Given the description of an element on the screen output the (x, y) to click on. 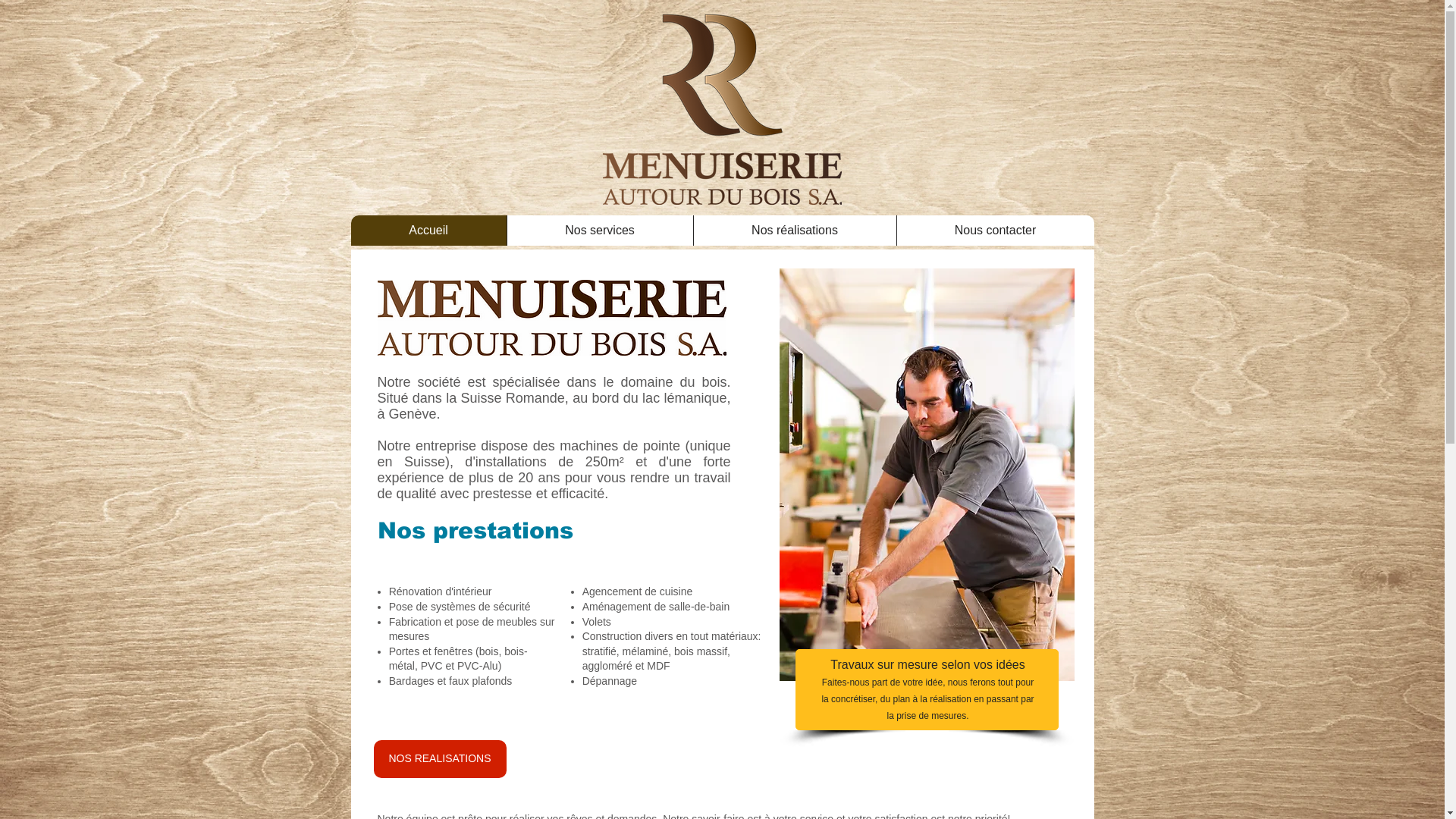
Nos services Element type: text (599, 230)
Accueil Element type: text (427, 230)
NOS REALISATIONS Element type: text (439, 759)
Nous contacter Element type: text (995, 230)
